Given the description of an element on the screen output the (x, y) to click on. 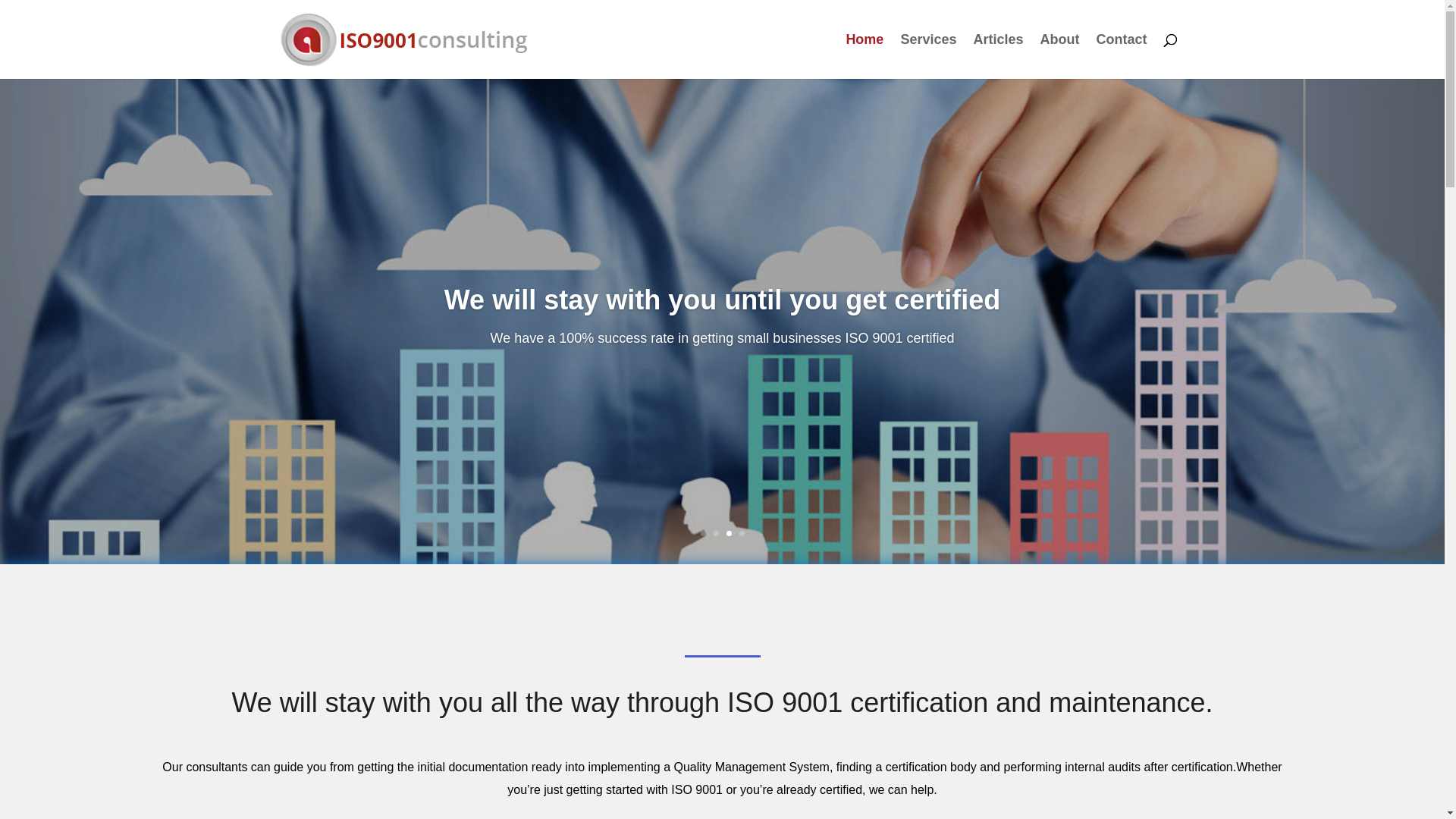
About Element type: text (1059, 56)
2 Element type: text (715, 533)
4 Element type: text (740, 533)
3 Element type: text (728, 533)
1 Element type: text (703, 533)
Contact Element type: text (1121, 56)
Articles Element type: text (997, 56)
Home Element type: text (864, 56)
Services Element type: text (928, 56)
